Given the description of an element on the screen output the (x, y) to click on. 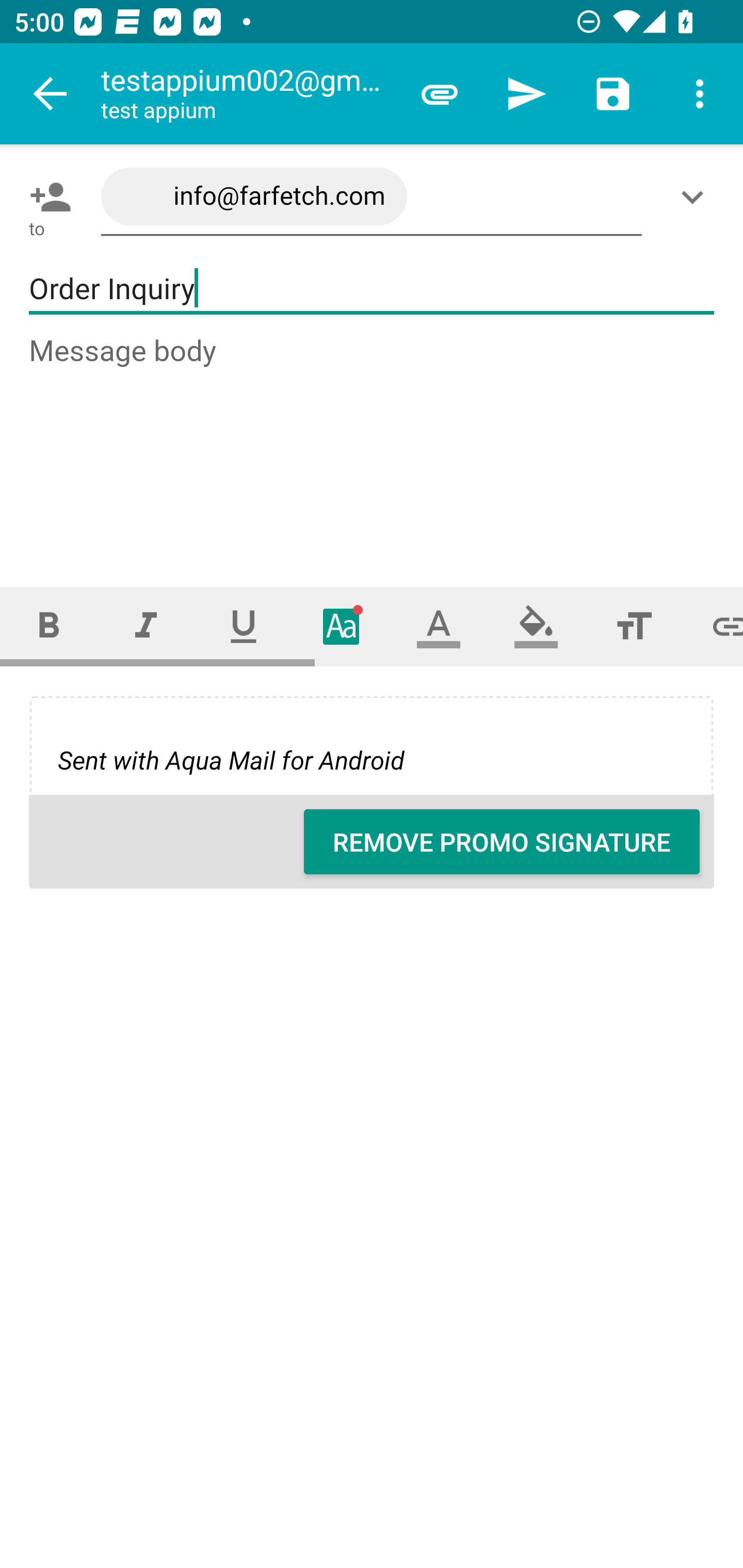
Navigate up (50, 93)
testappium002@gmail.com test appium (248, 93)
Attach (439, 93)
Send (525, 93)
Save (612, 93)
More options (699, 93)
info@farfetch.com,  (371, 197)
Pick contact: To (46, 196)
Show/Add CC/BCC (696, 196)
Order Inquiry (371, 288)
Message body (372, 442)
Bold (48, 626)
Italic (145, 626)
Underline (243, 626)
Typeface (font) (341, 626)
Text color (438, 626)
Fill color (536, 626)
Font size (633, 626)
Set link (712, 626)
REMOVE PROMO SIGNATURE (501, 841)
